Given the description of an element on the screen output the (x, y) to click on. 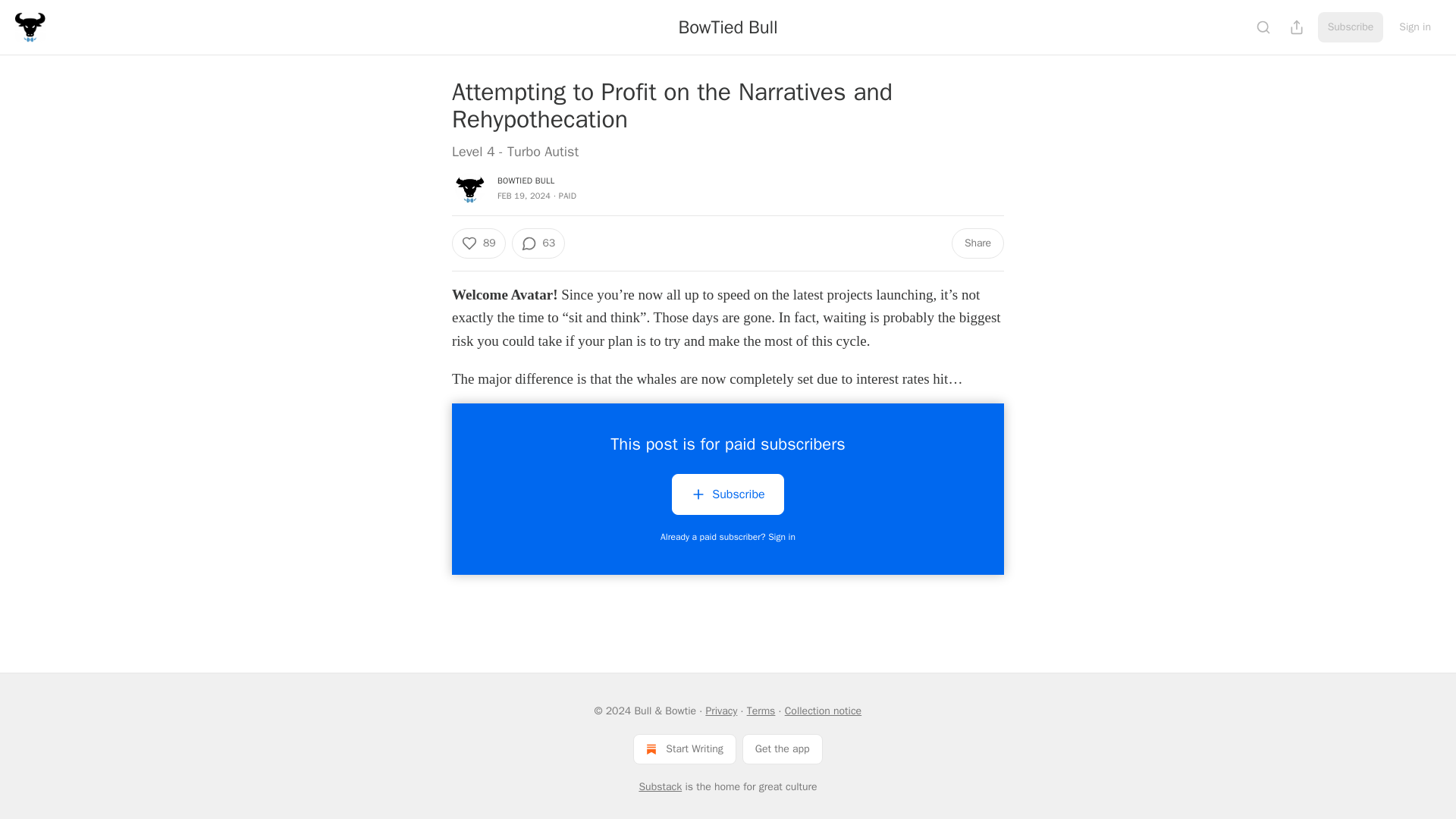
BOWTIED BULL (525, 180)
Subscribe (727, 497)
Already a paid subscriber? Sign in (727, 536)
Terms (761, 710)
BowTied Bull (727, 26)
Subscribe (727, 494)
63 (537, 243)
Substack (660, 786)
89 (478, 243)
Get the app (782, 748)
